Given the description of an element on the screen output the (x, y) to click on. 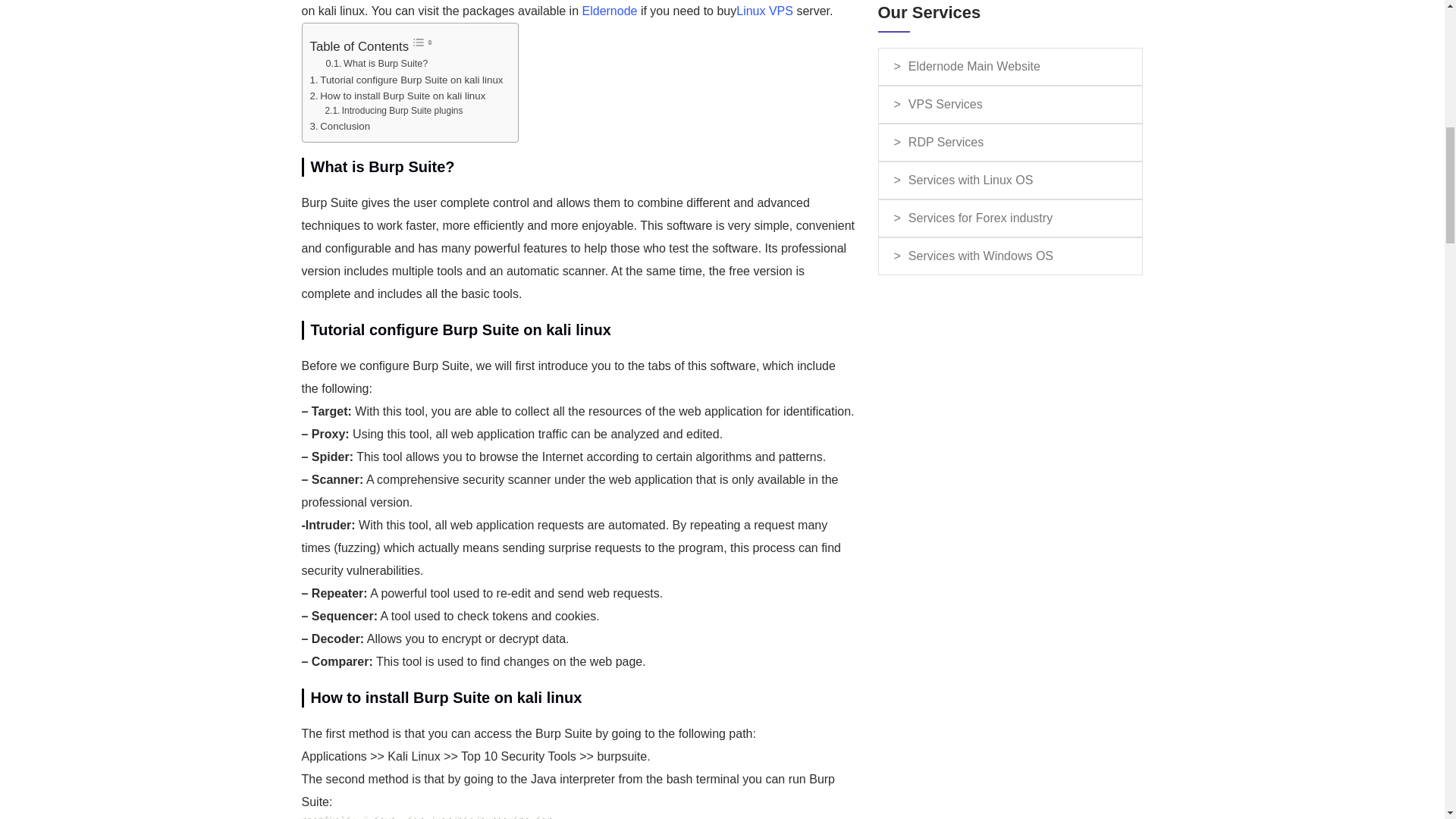
How to install Burp Suite on kali linux (396, 95)
Conclusion (338, 125)
Tutorial configure Burp Suite on kali linux (405, 79)
How to install Burp Suite on kali linux (396, 95)
Tutorial configure Burp Suite on kali linux (405, 79)
Introducing Burp Suite plugins (393, 110)
Conclusion (338, 125)
What is Burp Suite? (377, 63)
Introducing Burp Suite plugins (393, 110)
What is Burp Suite? (377, 63)
Eldernode (609, 11)
Linux VPS (764, 11)
